Given the description of an element on the screen output the (x, y) to click on. 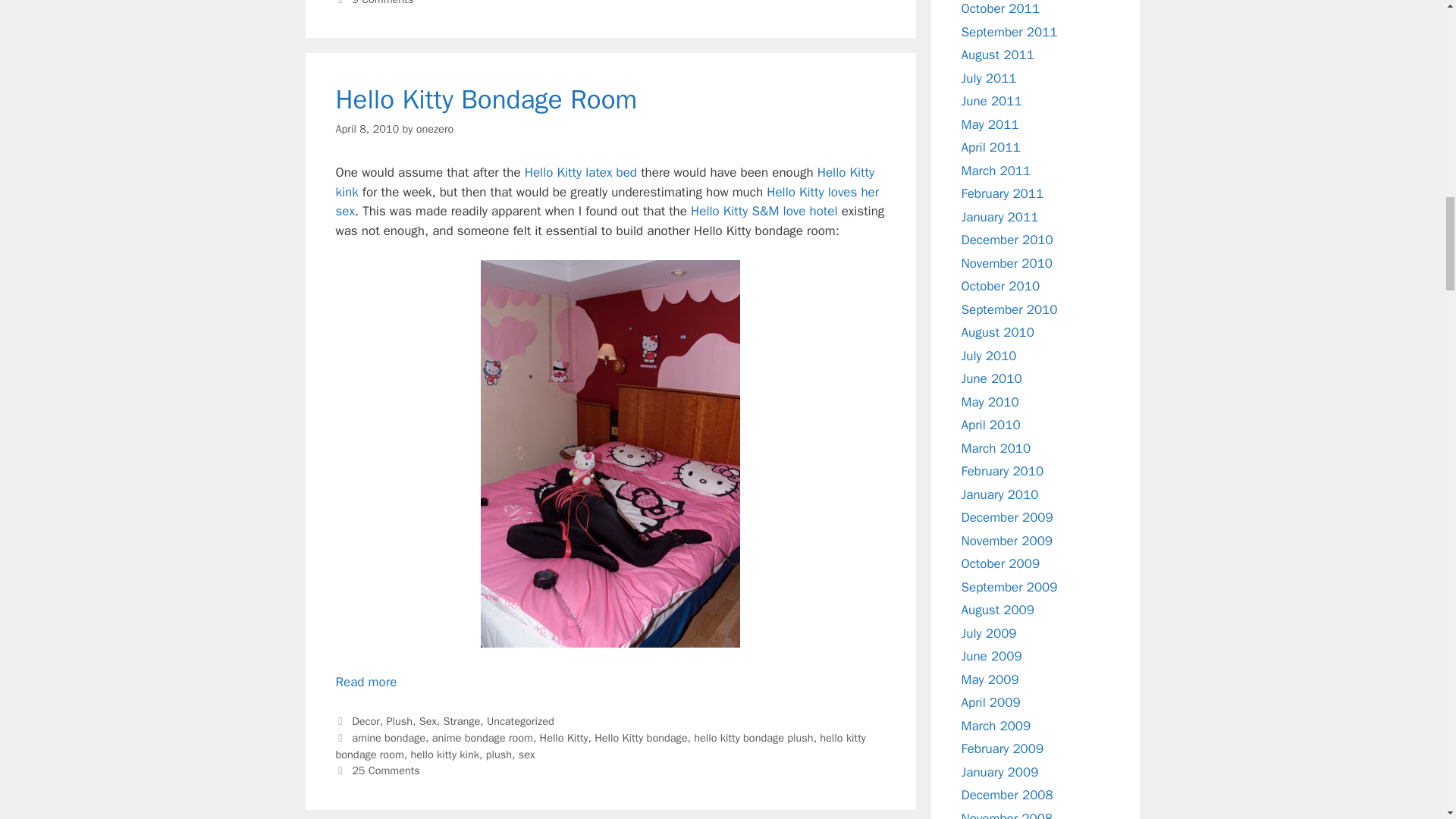
Hello Kitty Bondage Room (365, 682)
View all posts by onezero (435, 128)
